Given the description of an element on the screen output the (x, y) to click on. 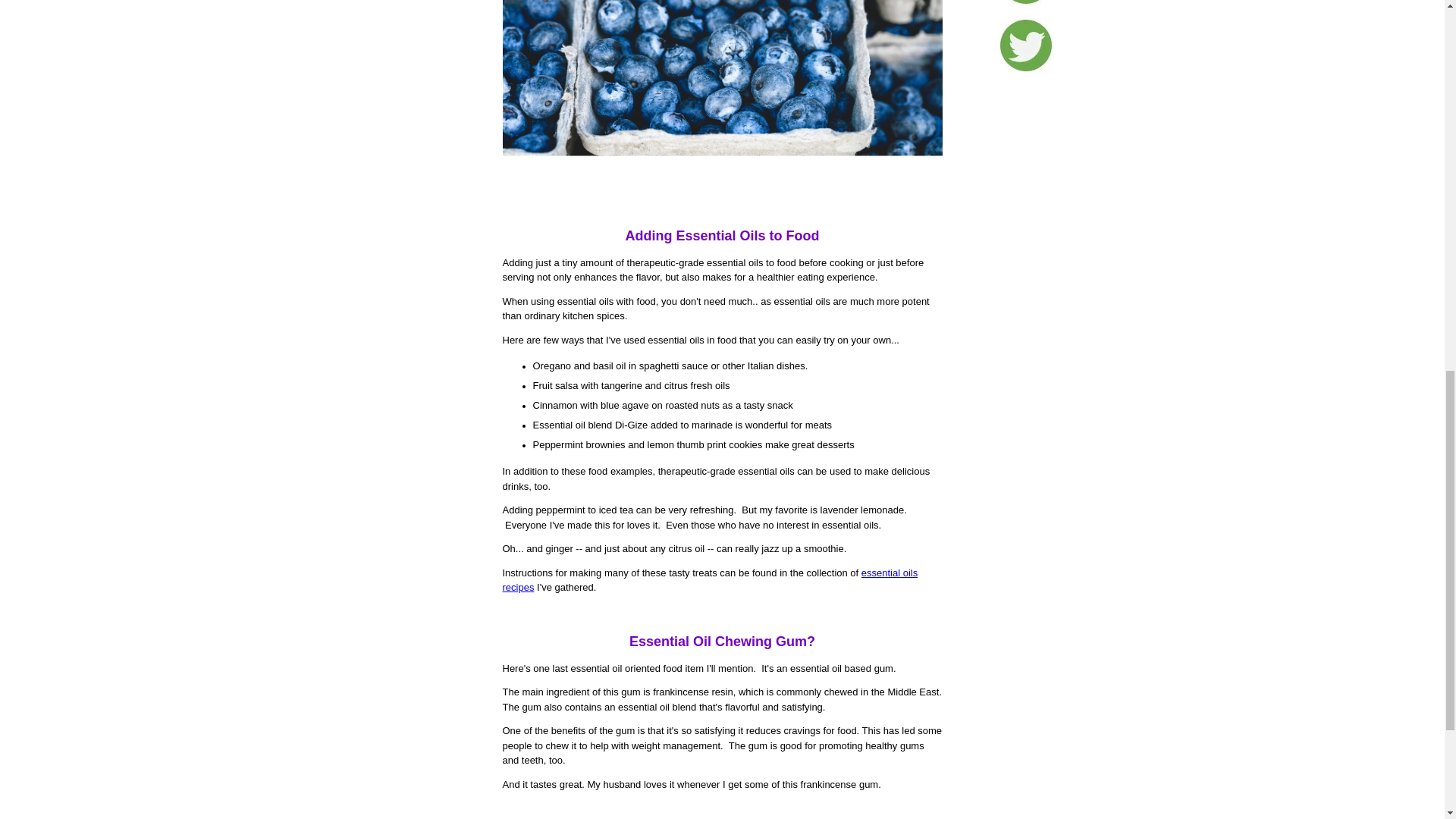
essential oils recipes (709, 580)
